Given the description of an element on the screen output the (x, y) to click on. 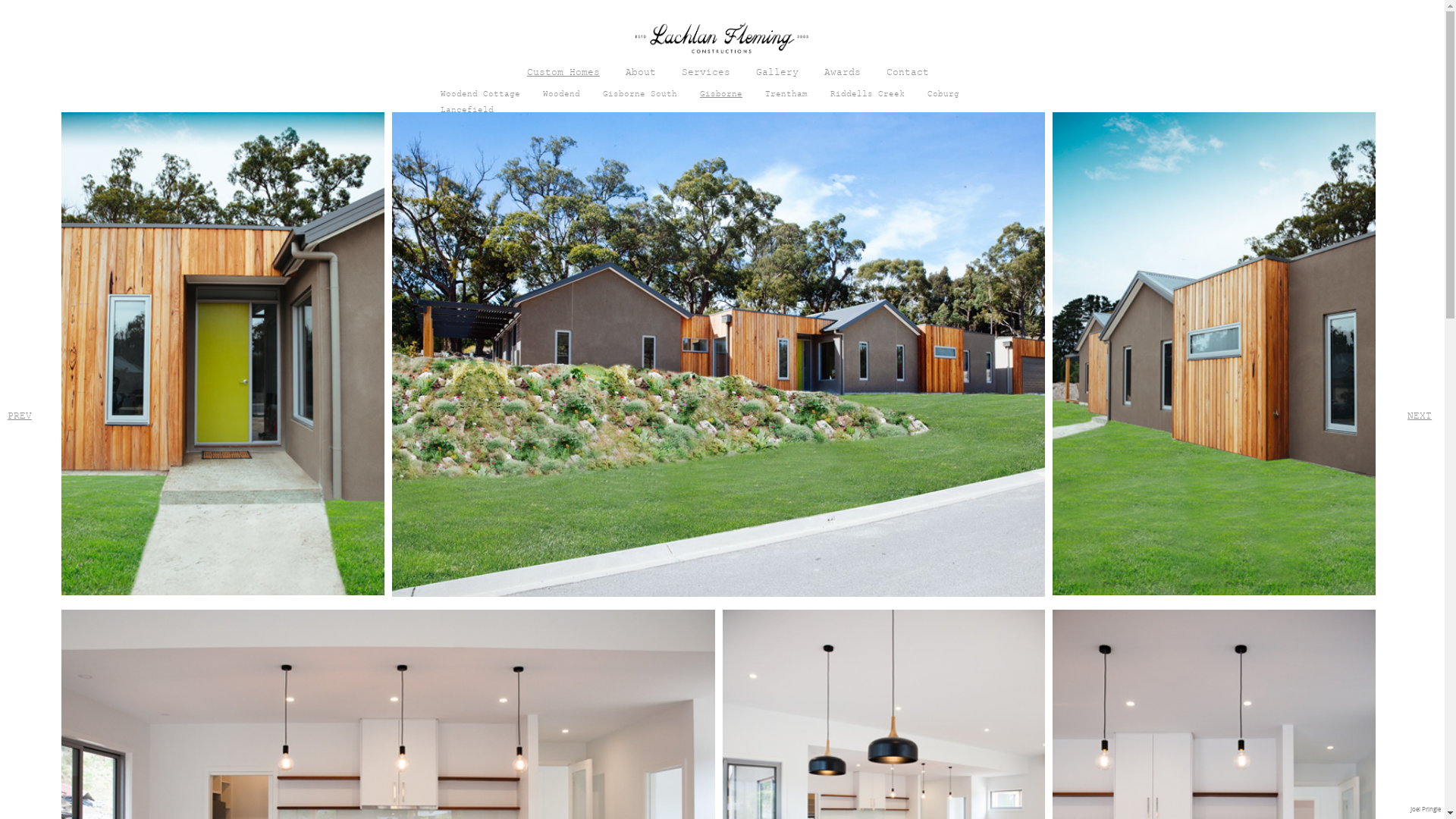
Lancefield Element type: text (466, 110)
Trentham Element type: text (786, 94)
Woodend Element type: text (561, 94)
Gisborne South Element type: text (639, 94)
Lachlan Fleming Element type: hover (722, 40)
Gisborne Element type: text (720, 94)
Coburg Element type: text (943, 94)
NEXT Element type: text (1419, 416)
Services Element type: text (705, 73)
Skip to content Element type: text (766, 68)
Woodend Cottage Element type: text (480, 94)
Gallery Element type: text (777, 73)
Contact Element type: text (907, 73)
About Element type: text (640, 73)
Riddells Creek Element type: text (867, 94)
Joel Pringle Element type: text (1425, 808)
Custom Homes Element type: text (563, 73)
Awards Element type: text (842, 73)
PREV Element type: text (19, 416)
